Given the description of an element on the screen output the (x, y) to click on. 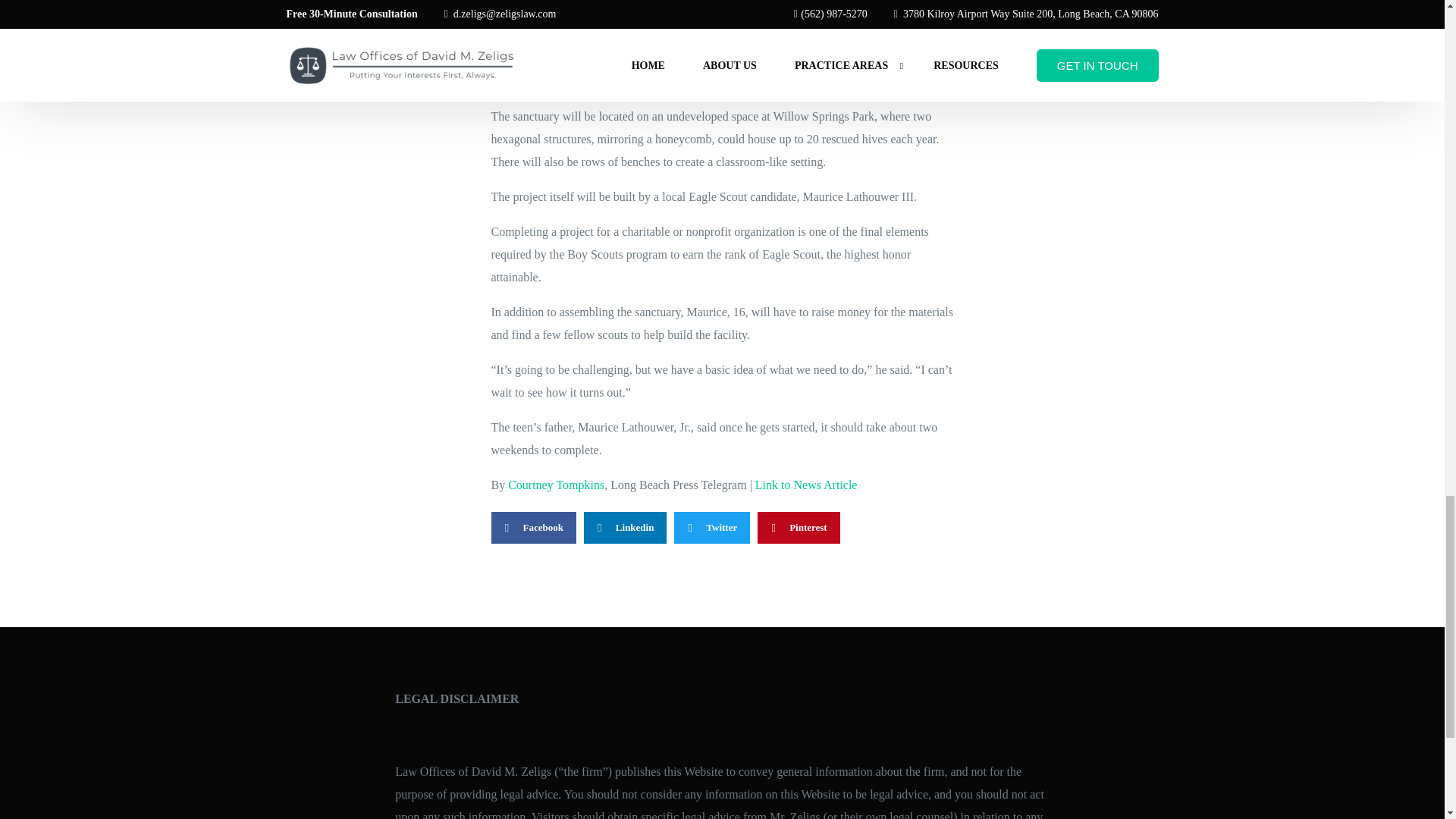
Link to News Article (806, 484)
Courtney Tompkins (556, 484)
